Given the description of an element on the screen output the (x, y) to click on. 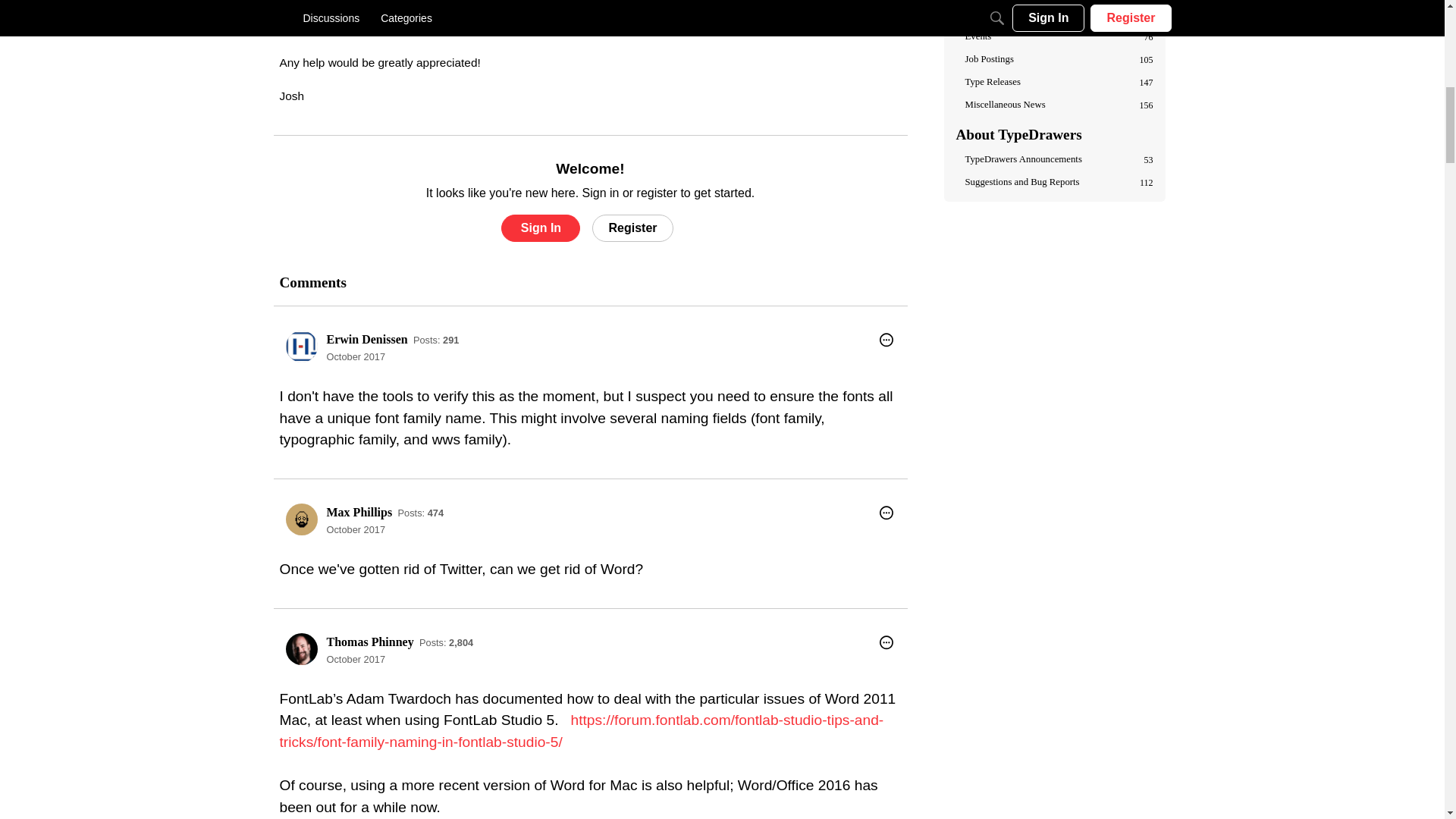
Thomas Phinney (301, 649)
Max Phillips (358, 512)
Sign In (539, 227)
Erwin Denissen (366, 338)
October 15, 2017 9:43AM (355, 356)
Sign In (539, 227)
October 16, 2017 2:51AM (355, 659)
Thomas Phinney (369, 641)
Register (632, 227)
Erwin Denissen (301, 346)
October 15, 2017 5:35PM (355, 529)
October 2017 (355, 356)
Max Phillips (301, 519)
Register (632, 227)
October 2017 (355, 529)
